Given the description of an element on the screen output the (x, y) to click on. 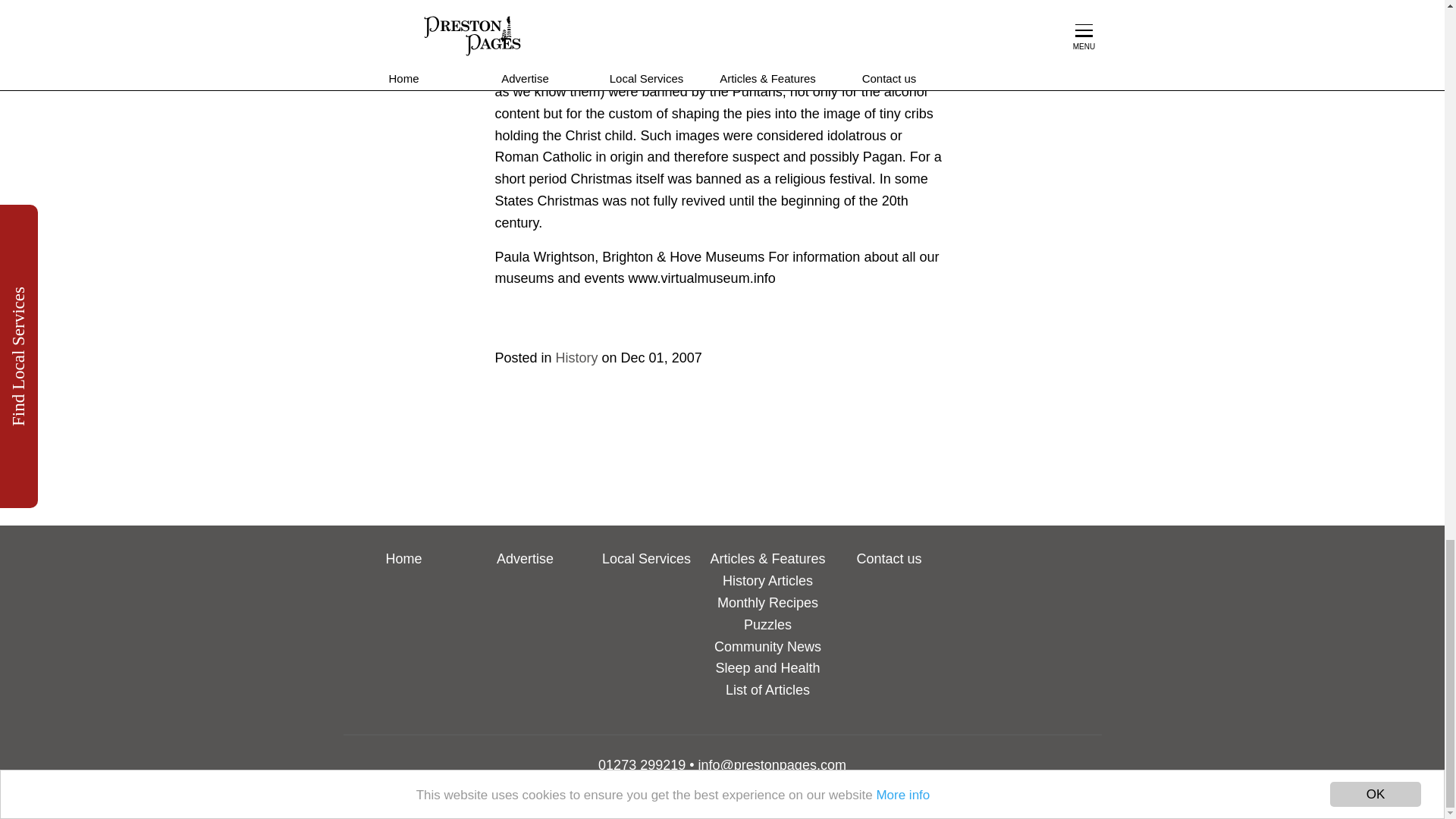
Monthly Recipes (767, 602)
Home (403, 558)
Community News (767, 646)
Puzzles (768, 624)
Sleep and Health (766, 667)
Brighton Website Design (766, 798)
Advertise (524, 558)
List of Articles (767, 689)
History Articles (767, 580)
History (577, 357)
Contact us (888, 558)
Local Services (646, 558)
